Given the description of an element on the screen output the (x, y) to click on. 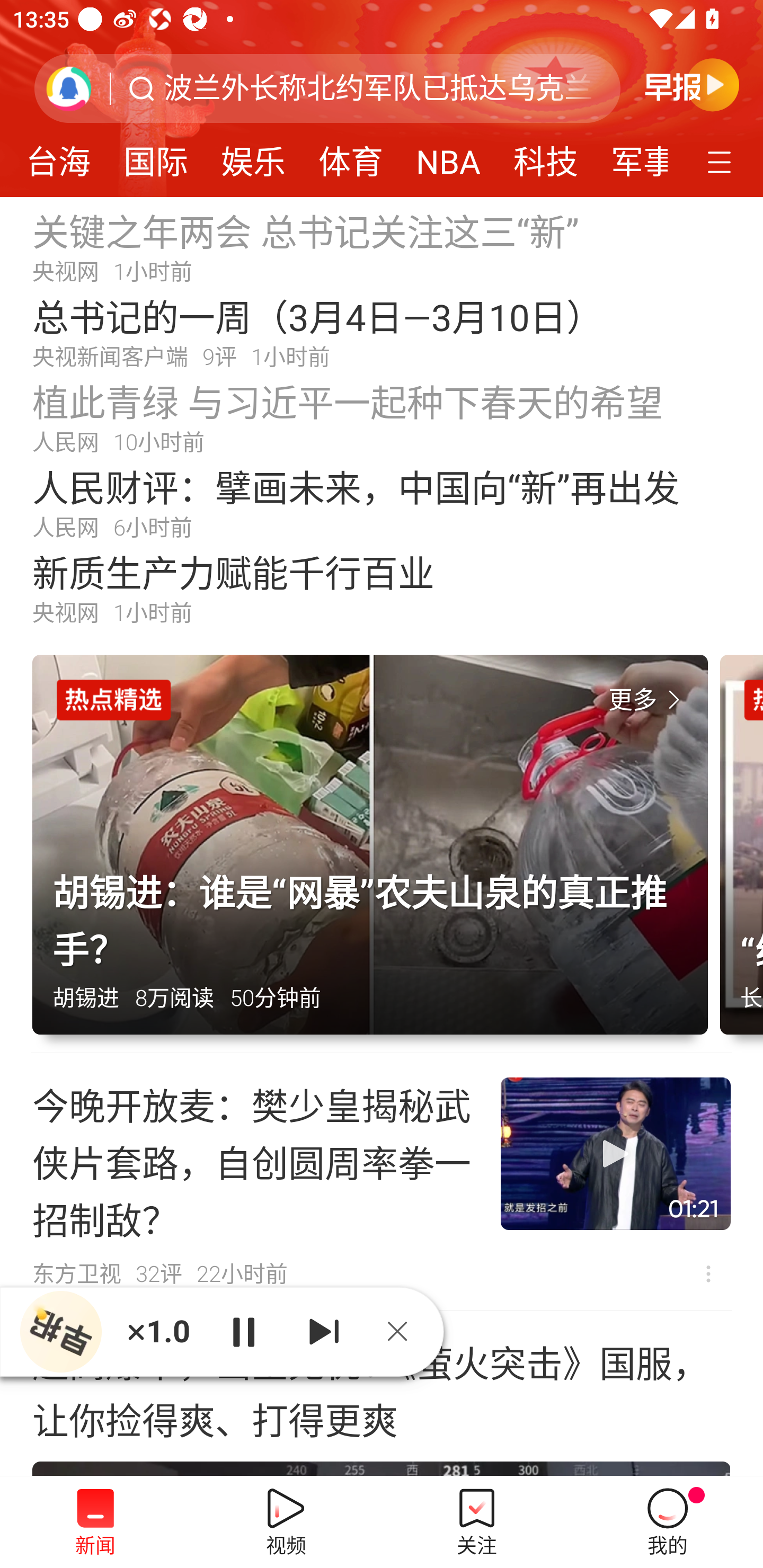
早晚报 (691, 84)
刷新 (68, 88)
波兰外长称北约军队已抵达乌克兰 (378, 88)
台海 (61, 155)
国际 (155, 155)
娱乐 (253, 155)
体育 (350, 155)
NBA (447, 155)
科技 (545, 155)
军事 (630, 155)
 定制频道 (721, 160)
关键之年两会 总书记关注这三“新” 央视网 1小时前 (381, 245)
总书记的一周（3月4日—3月10日） 央视新闻客户端 9评 1小时前 (381, 331)
植此青绿 与习近平一起种下春天的希望 人民网 10小时前 (381, 416)
人民财评：擘画未来，中国向“新”再出发 人民网 6小时前 (381, 502)
新质生产力赋能千行百业 央视网 1小时前 (381, 587)
更多  胡锡进：谁是“网暴”农夫山泉的真正推手？ 胡锡进   8万阅读   50分钟前 (376, 853)
更多  (648, 699)
 不感兴趣 (707, 1273)
 播放 (242, 1330)
 下一个 (323, 1330)
播放器 (60, 1331)
 关闭 (404, 1330)
 1.0 (157, 1330)
